Given the description of an element on the screen output the (x, y) to click on. 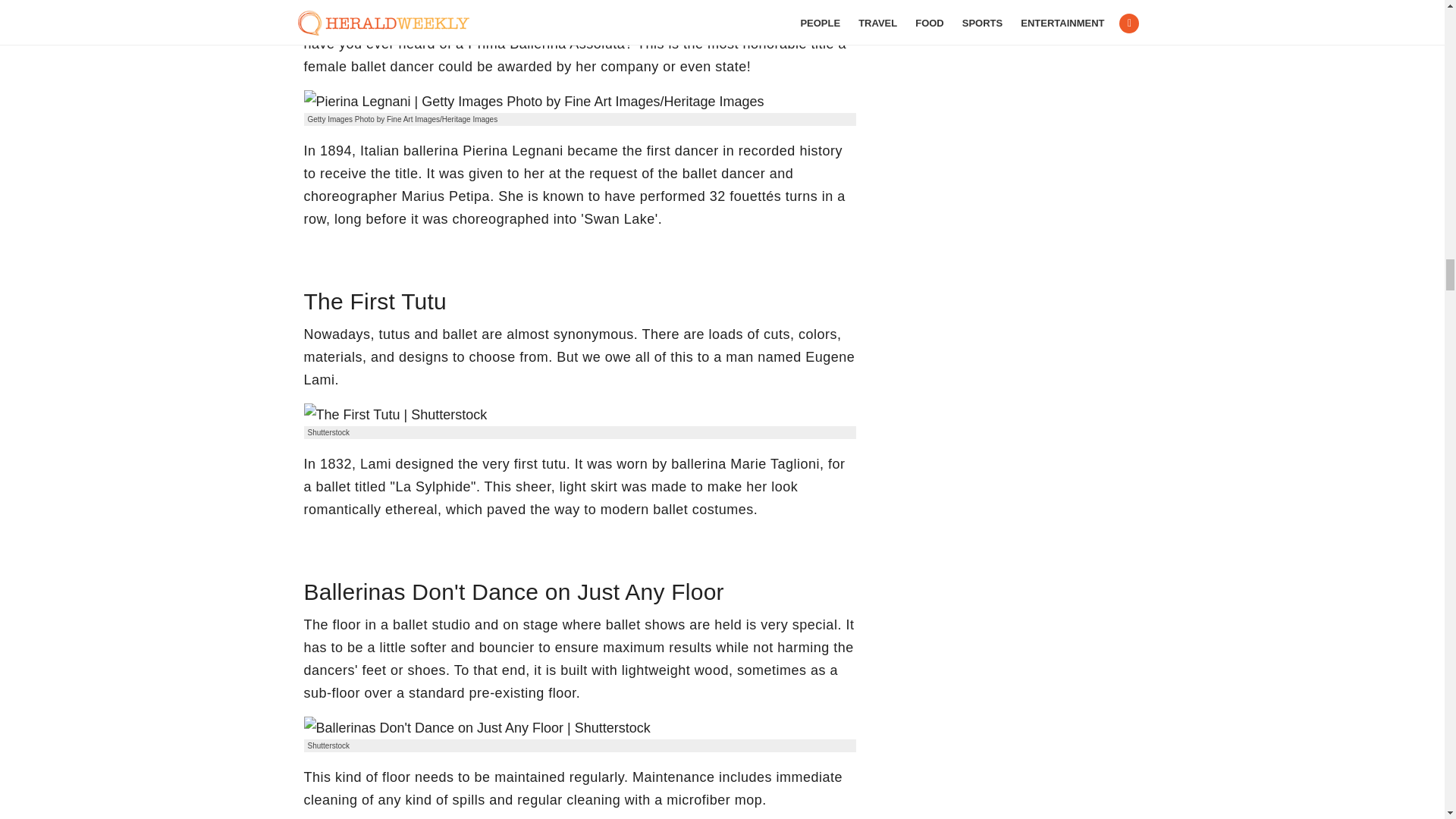
Ballerinas Don't Dance on Just Any Floor (475, 727)
The First Tutu (394, 414)
Pierina Legnani (532, 101)
